Given the description of an element on the screen output the (x, y) to click on. 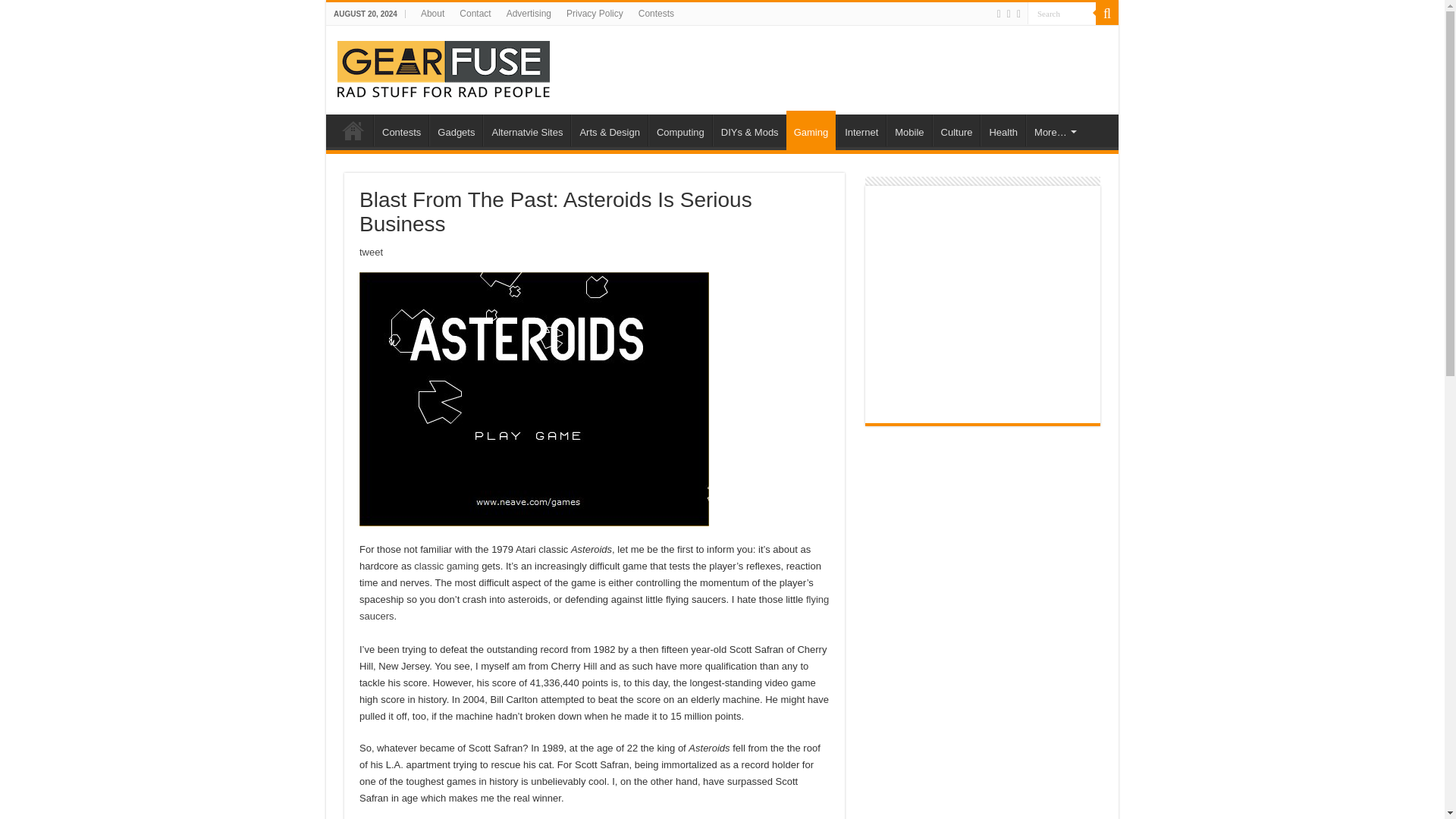
asteroids (534, 398)
Home (352, 130)
Culture (956, 130)
Alternatvie Sites (526, 130)
Search (1061, 13)
Privacy Policy (594, 13)
Contests (401, 130)
Search (1061, 13)
Search (1107, 13)
Gearfuse (443, 67)
